Given the description of an element on the screen output the (x, y) to click on. 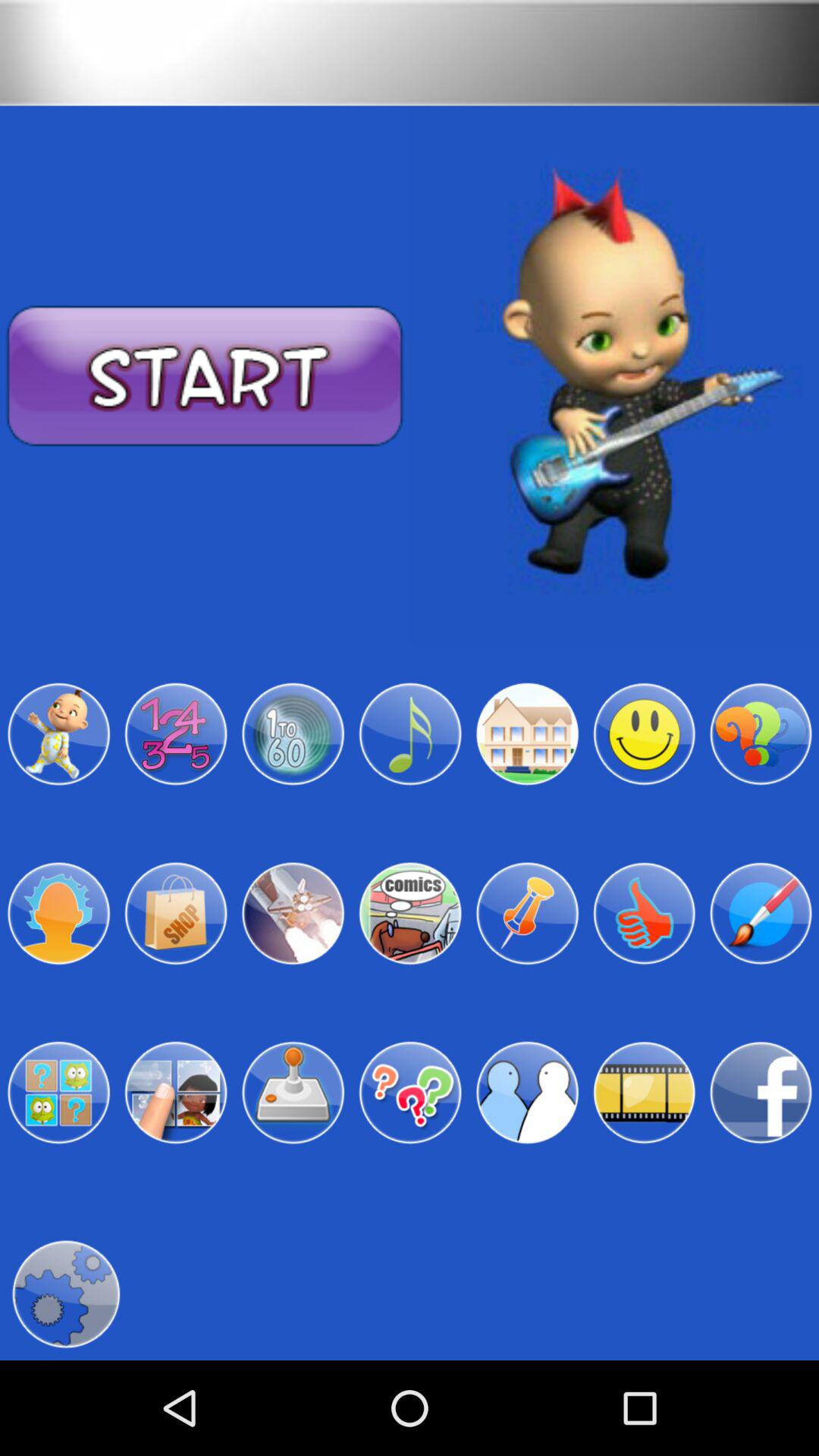
start the app (204, 375)
